Given the description of an element on the screen output the (x, y) to click on. 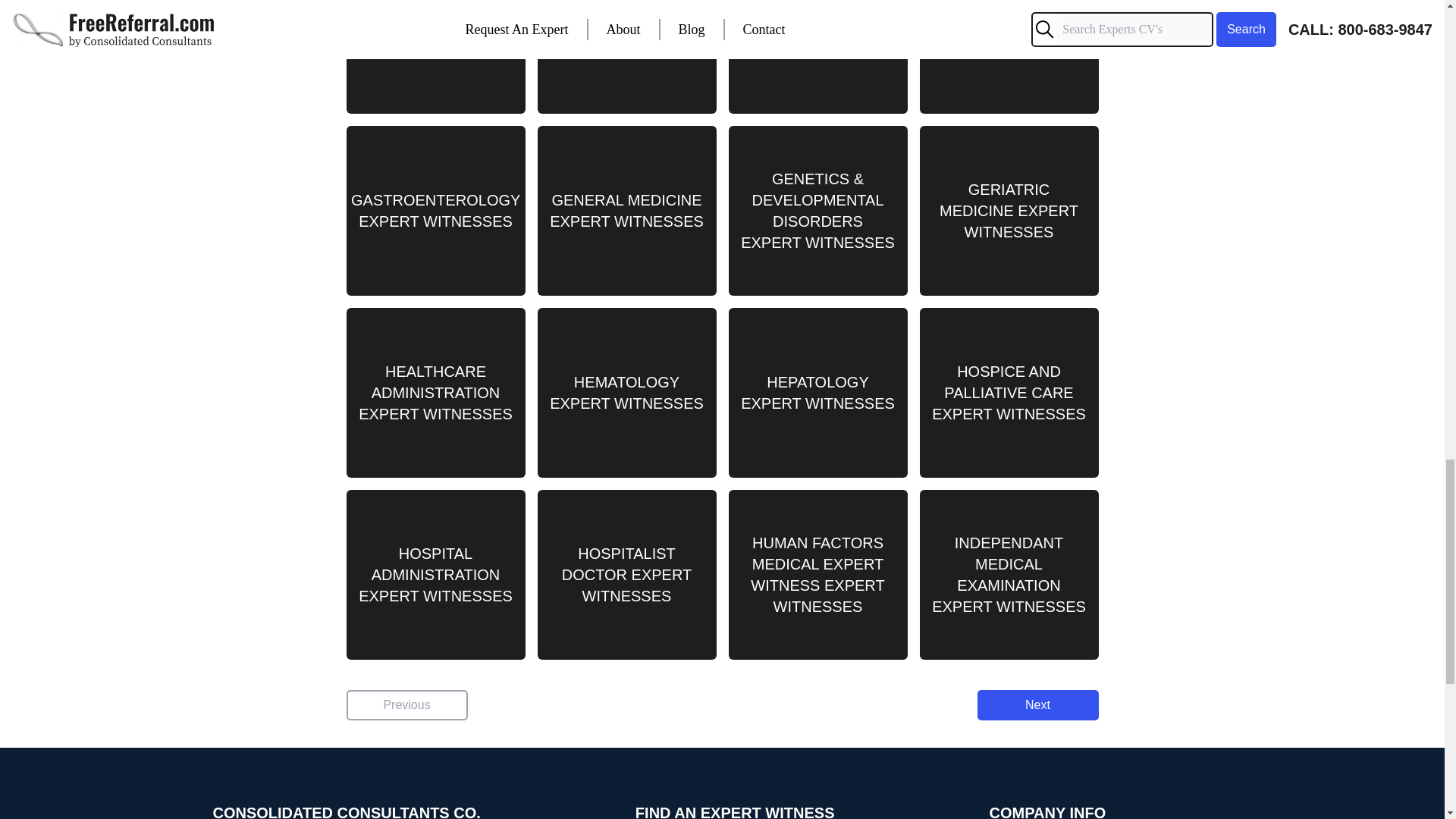
GASTROENTEROLOGY EXPERT WITNESSES (435, 210)
FAMILY MEDICINE EXPERT WITNESSES (435, 56)
FAMILY PRACTICE PHYSICIANS EXPERT WITNESSES (817, 56)
GENERAL MEDICINE EXPERT WITNESSES (626, 210)
FETAL MATERNAL EXPERT WITNESSES (1007, 56)
FAMILY MEDICINE EXPERT WITNESSES (626, 56)
GERIATRIC MEDICINE EXPERT WITNESSES (1007, 210)
